Given the description of an element on the screen output the (x, y) to click on. 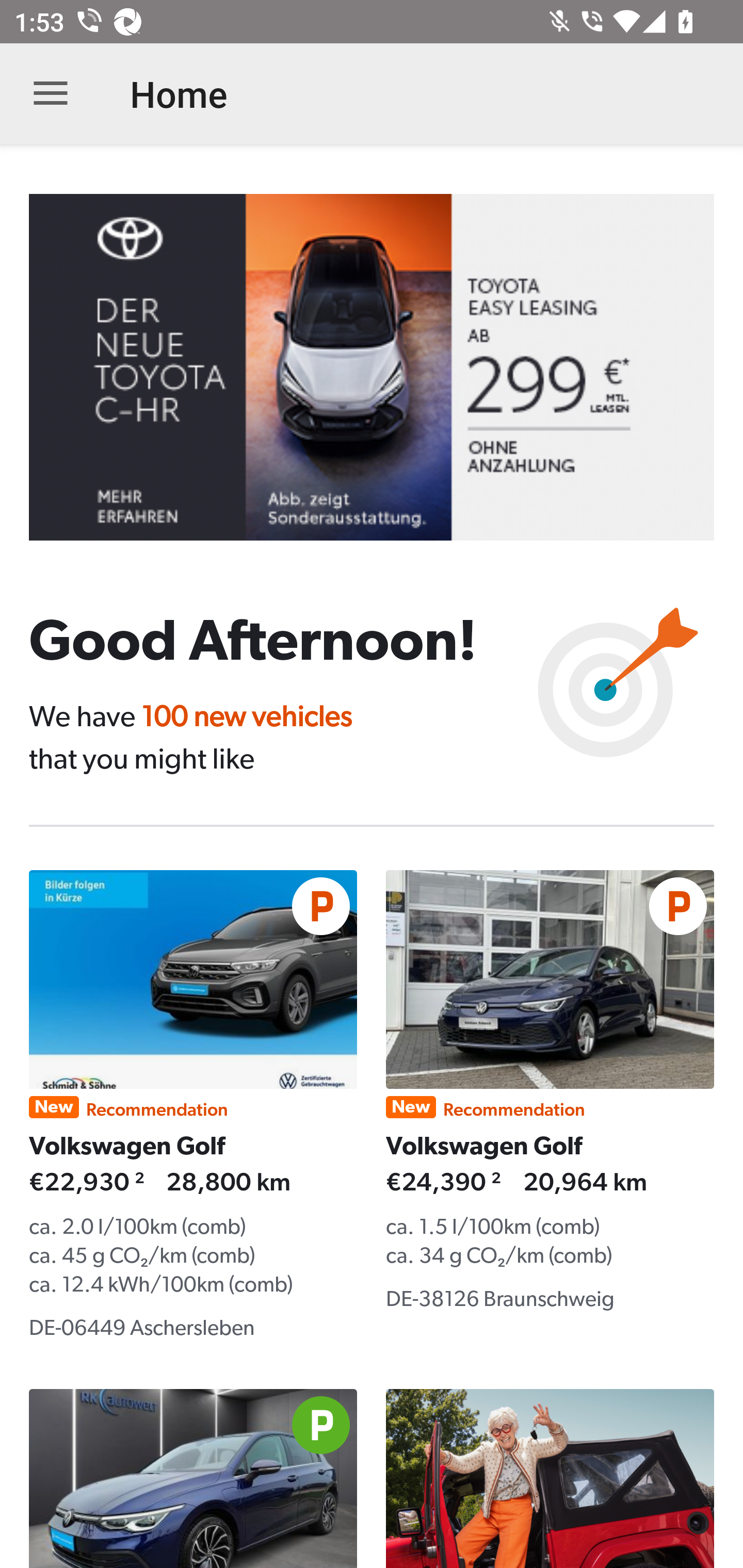
Open navigation bar (50, 93)
B31340770 (385, 367)
